Given the description of an element on the screen output the (x, y) to click on. 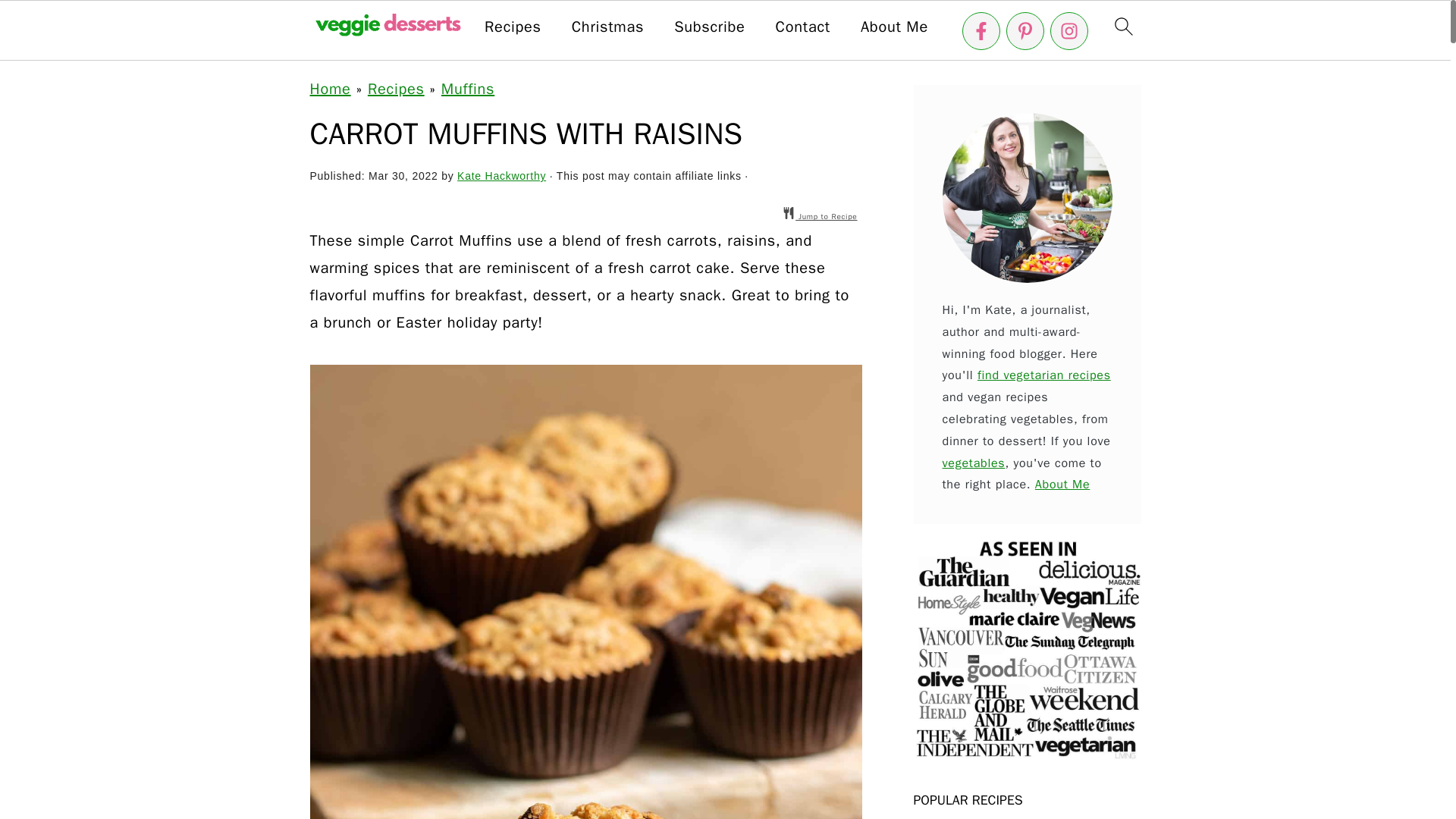
Recipes (512, 27)
About Me (894, 27)
Contact (802, 27)
Subscribe (709, 27)
search icon (1122, 26)
Christmas (607, 27)
